Given the description of an element on the screen output the (x, y) to click on. 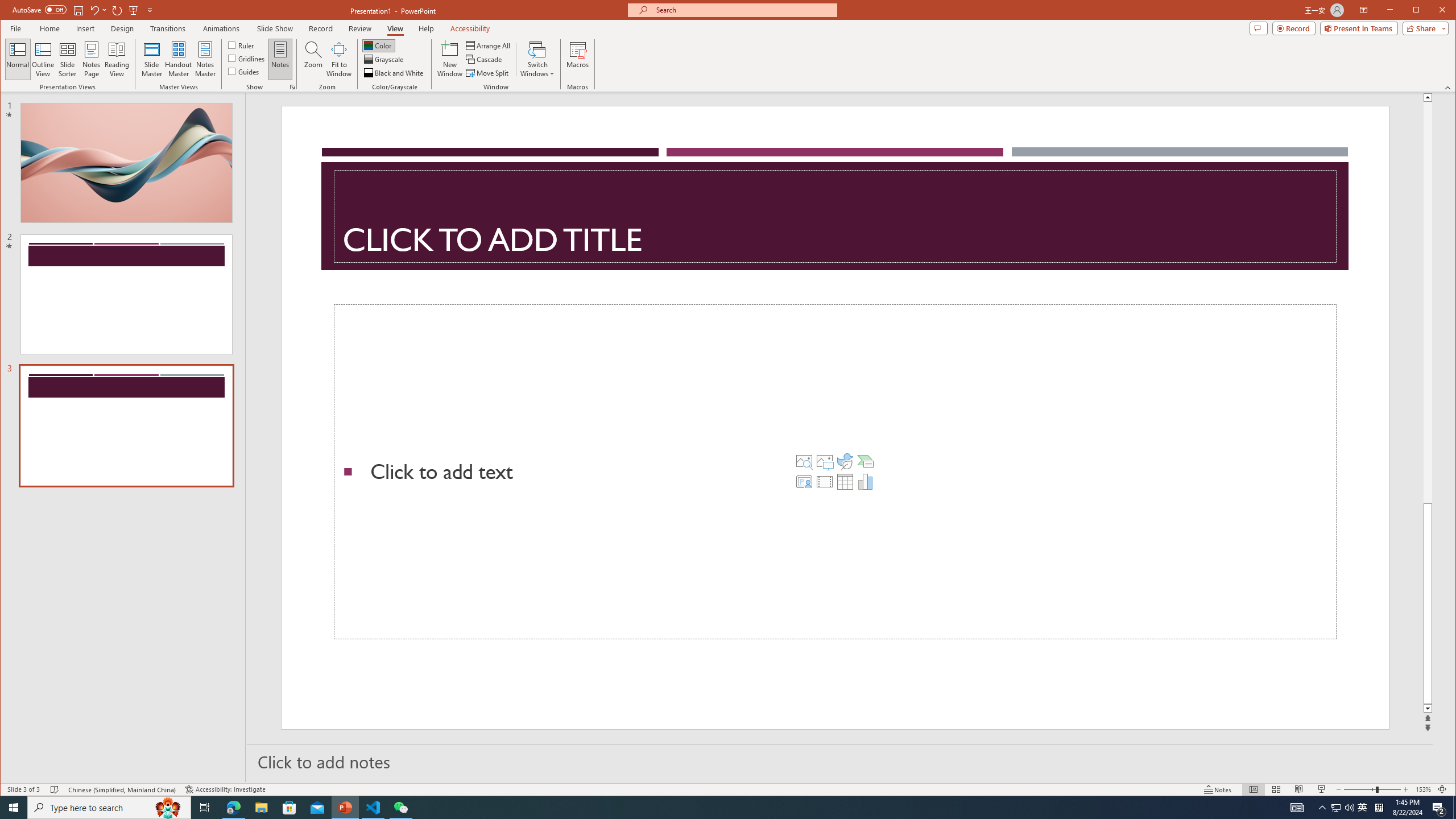
New Window (450, 59)
Zoom 153% (1422, 789)
Cascade (484, 59)
Handout Master (178, 59)
